Given the description of an element on the screen output the (x, y) to click on. 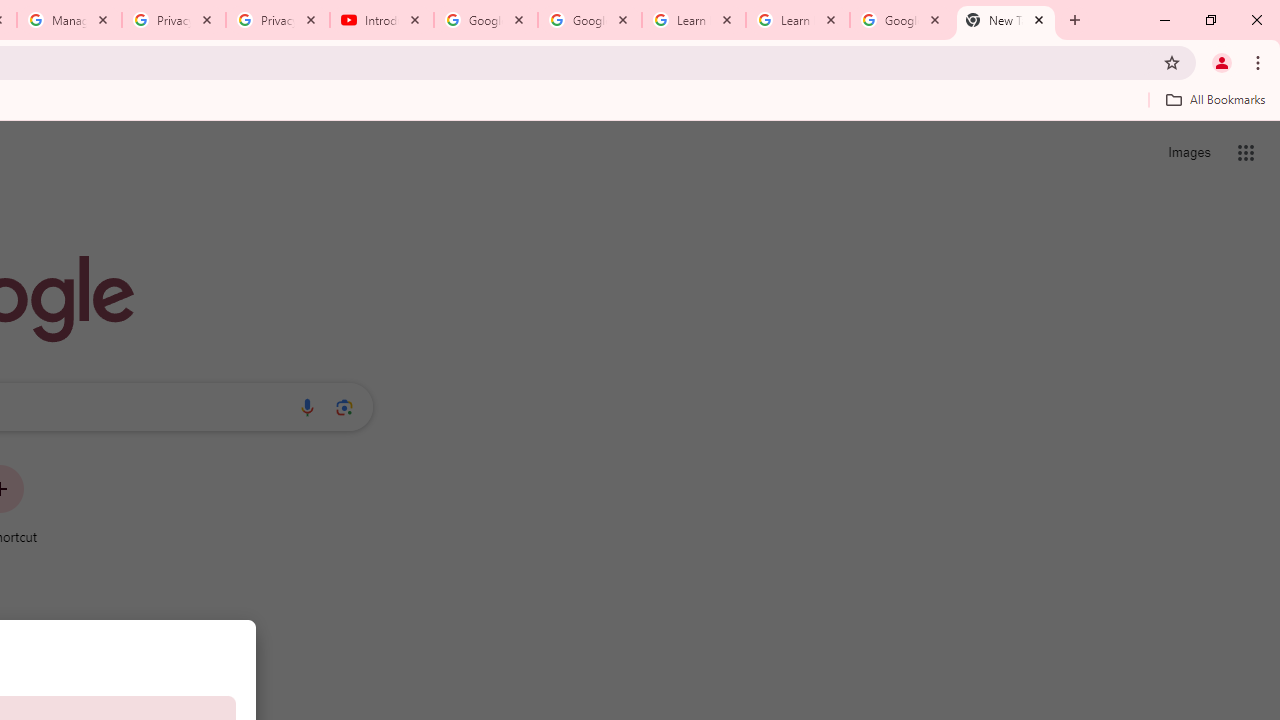
Introduction | Google Privacy Policy - YouTube (381, 20)
Google Account Help (589, 20)
Google Account Help (485, 20)
Google Account (901, 20)
